Given the description of an element on the screen output the (x, y) to click on. 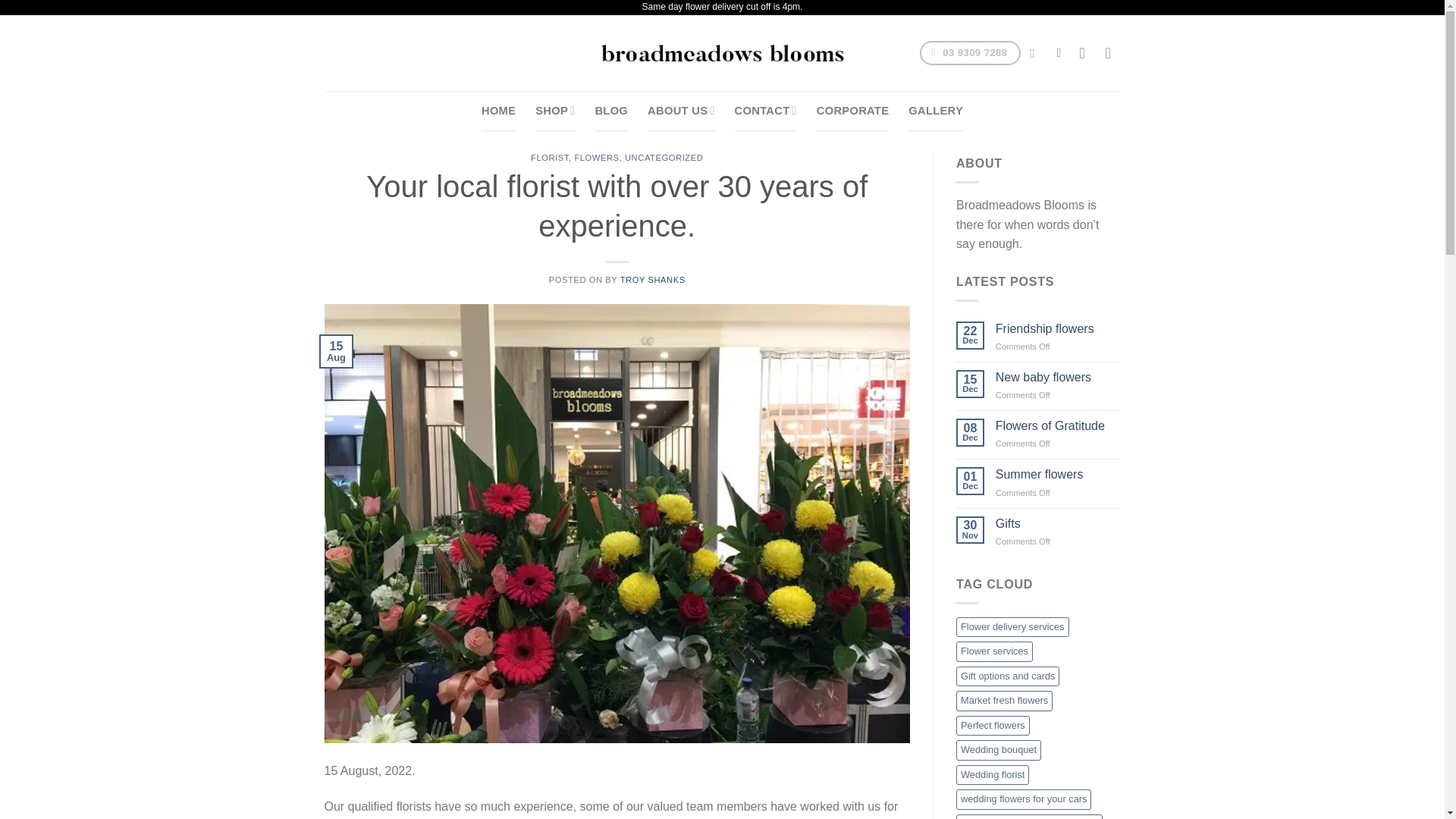
Gifts (1058, 522)
New baby flowers (1058, 377)
UNCATEGORIZED (663, 157)
SHOP (555, 110)
Call Now (971, 53)
GALLERY (935, 110)
Flowers of Gratitude (1058, 425)
FLORIST (550, 157)
03 9309 7288 (971, 53)
ABOUT US (680, 110)
